Given the description of an element on the screen output the (x, y) to click on. 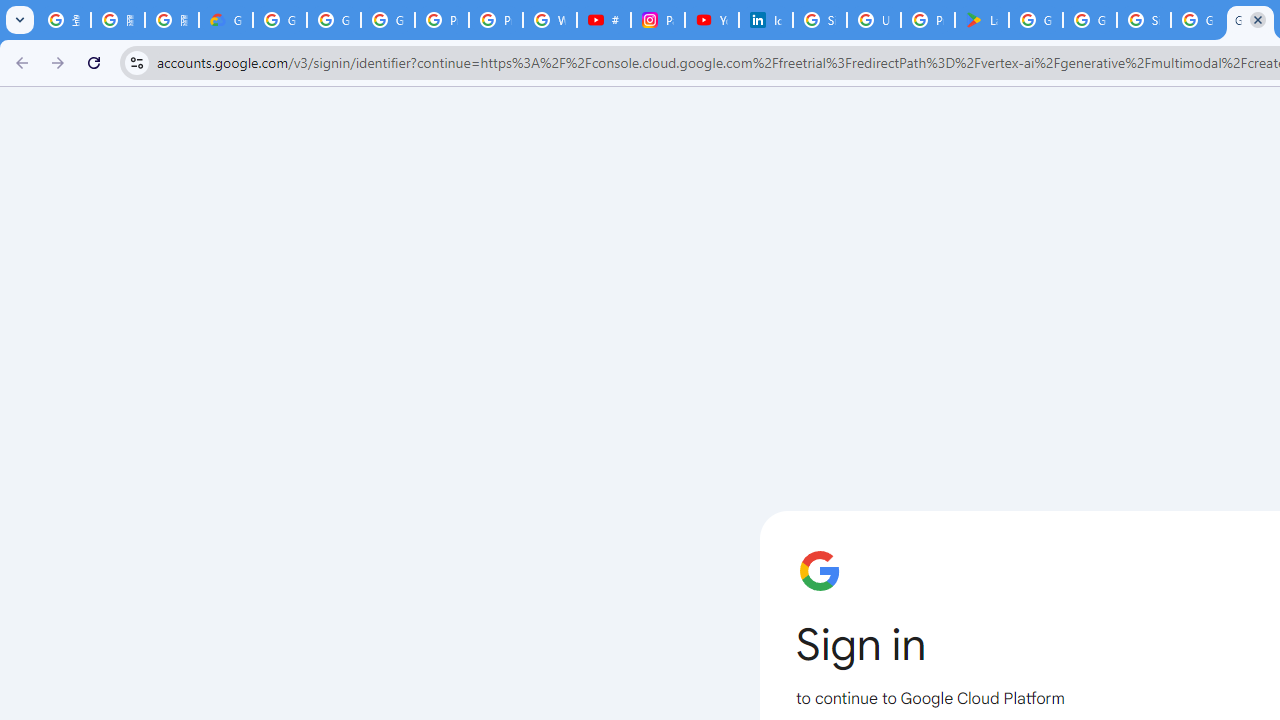
YouTube Culture & Trends - On The Rise: Handcam Videos (711, 20)
Sign in - Google Accounts (1144, 20)
Last Shelter: Survival - Apps on Google Play (981, 20)
Sign in - Google Accounts (819, 20)
